Given the description of an element on the screen output the (x, y) to click on. 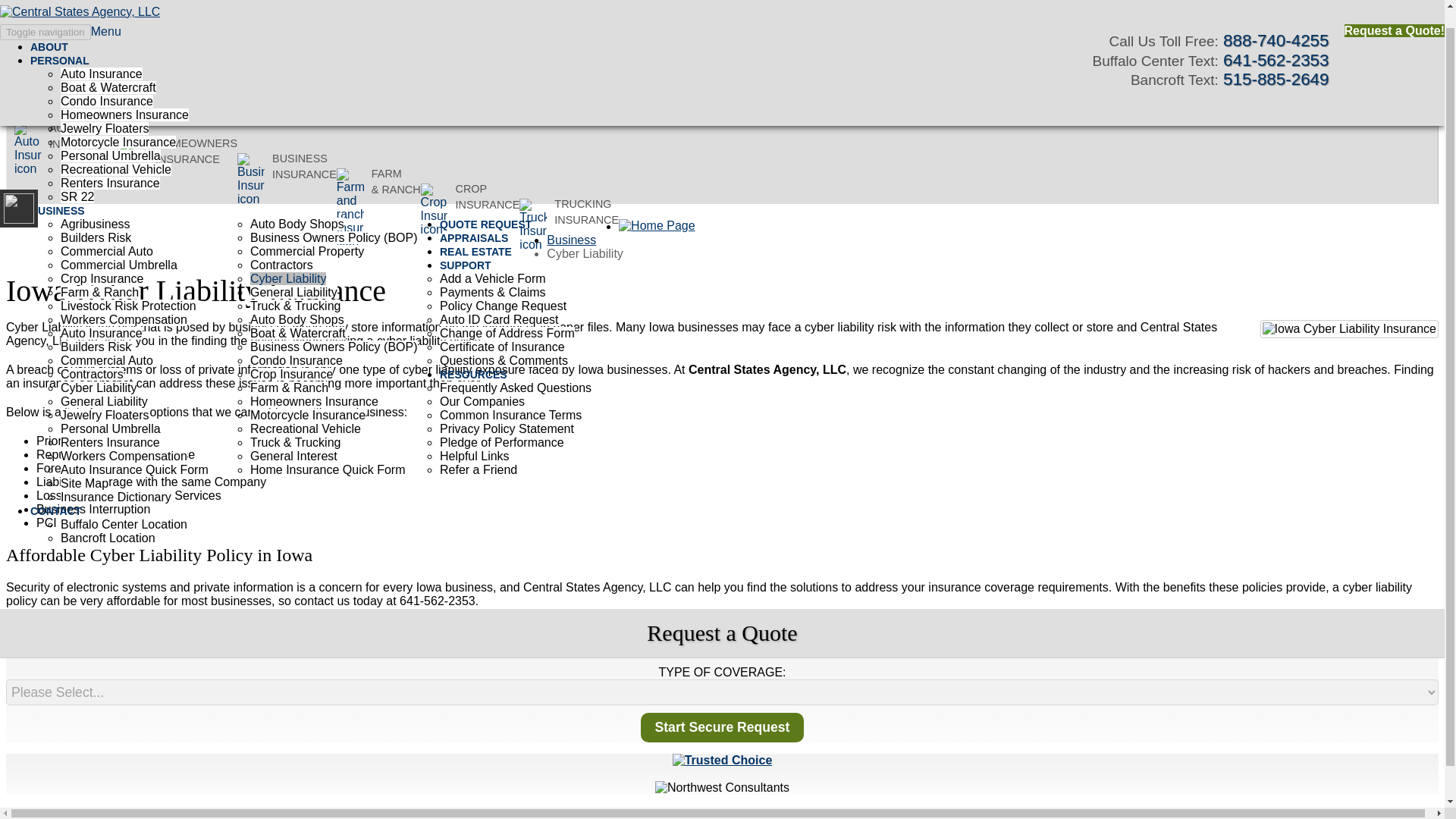
QUOTE REQUEST (486, 205)
Start Secure Request (722, 727)
Commercial Property (307, 232)
BUSINESS (58, 191)
Livestock Risk Protection (128, 286)
Workers Compensation (124, 300)
Cyber Liability (288, 259)
Auto Insurance (101, 54)
Renters Insurance (110, 164)
General Liability (293, 273)
